Given the description of an element on the screen output the (x, y) to click on. 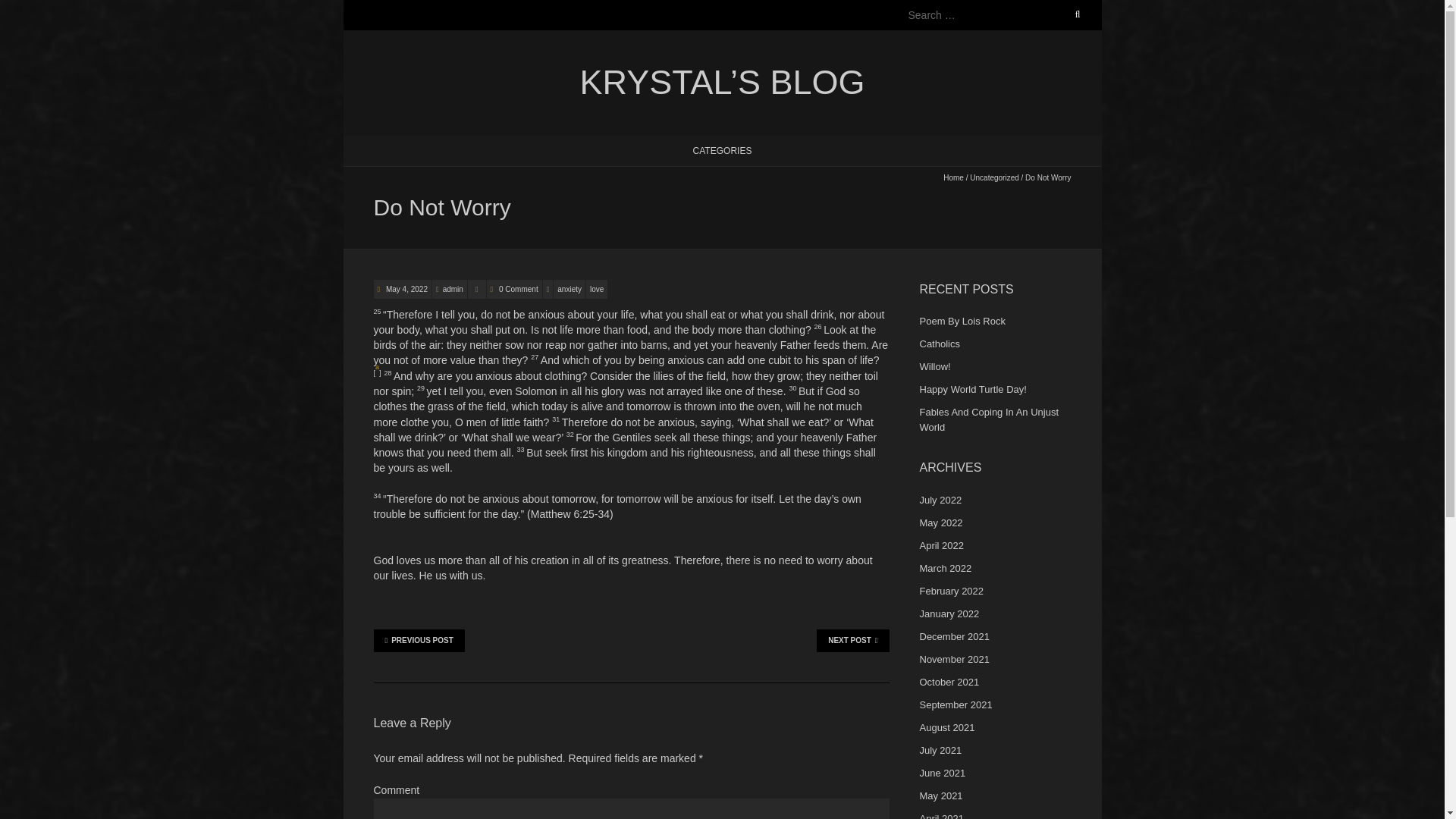
December 2021 (954, 636)
Catholics (938, 343)
Fables And Coping In An Unjust World (988, 419)
PREVIOUS POST (418, 640)
June 2021 (941, 772)
Home (953, 176)
March 2022 (944, 568)
love (596, 288)
May 4, 2022 (406, 289)
November 2021 (954, 659)
anxiety (569, 288)
August 2021 (946, 727)
Willow! (934, 366)
Happy World Turtle Day! (972, 389)
Category (476, 288)
